Given the description of an element on the screen output the (x, y) to click on. 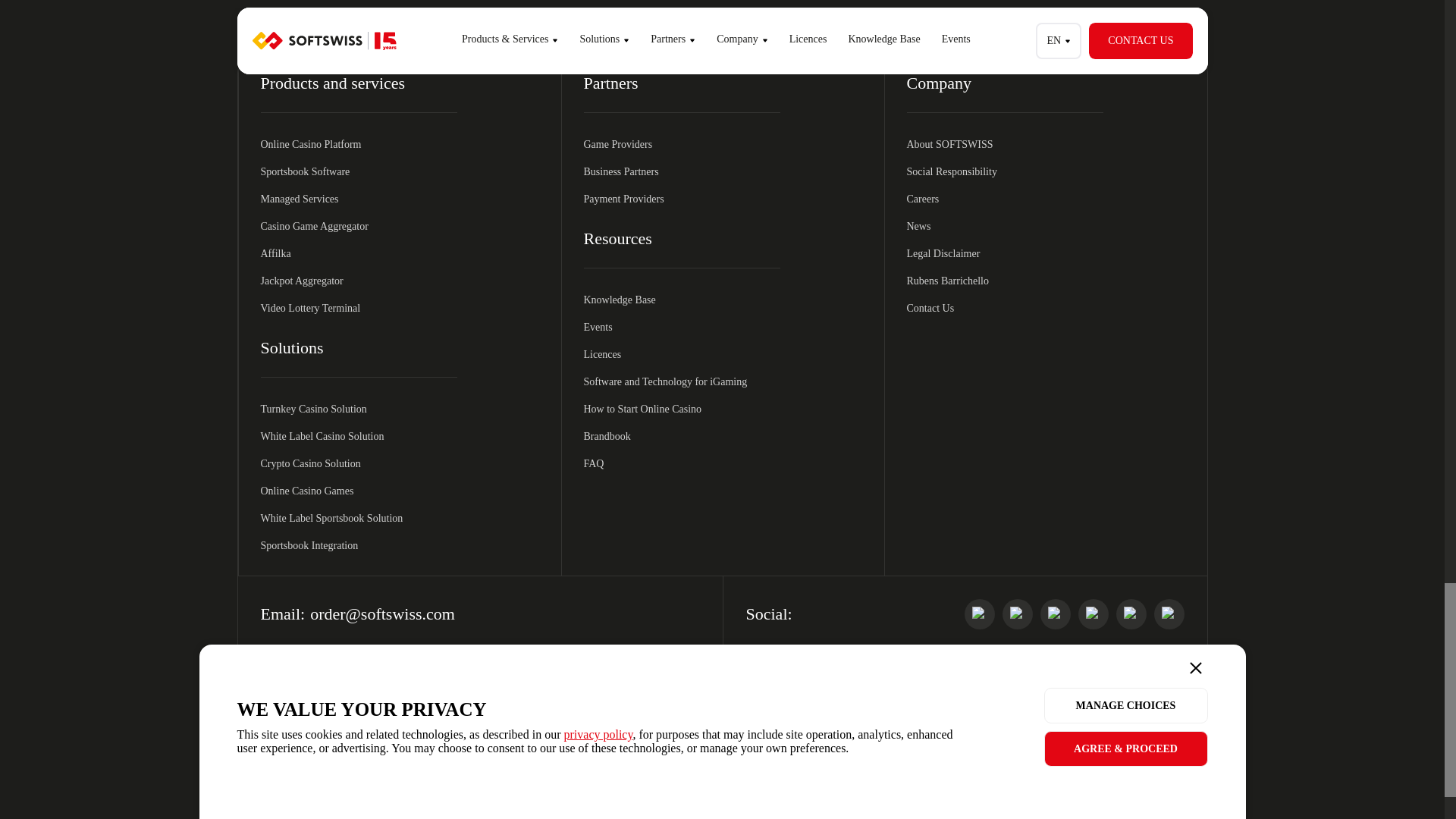
Facebook (1017, 613)
Linkedin (978, 613)
Instagram (1093, 613)
Medium (1169, 613)
Youtube (1055, 613)
Twitter (1131, 613)
